Given the description of an element on the screen output the (x, y) to click on. 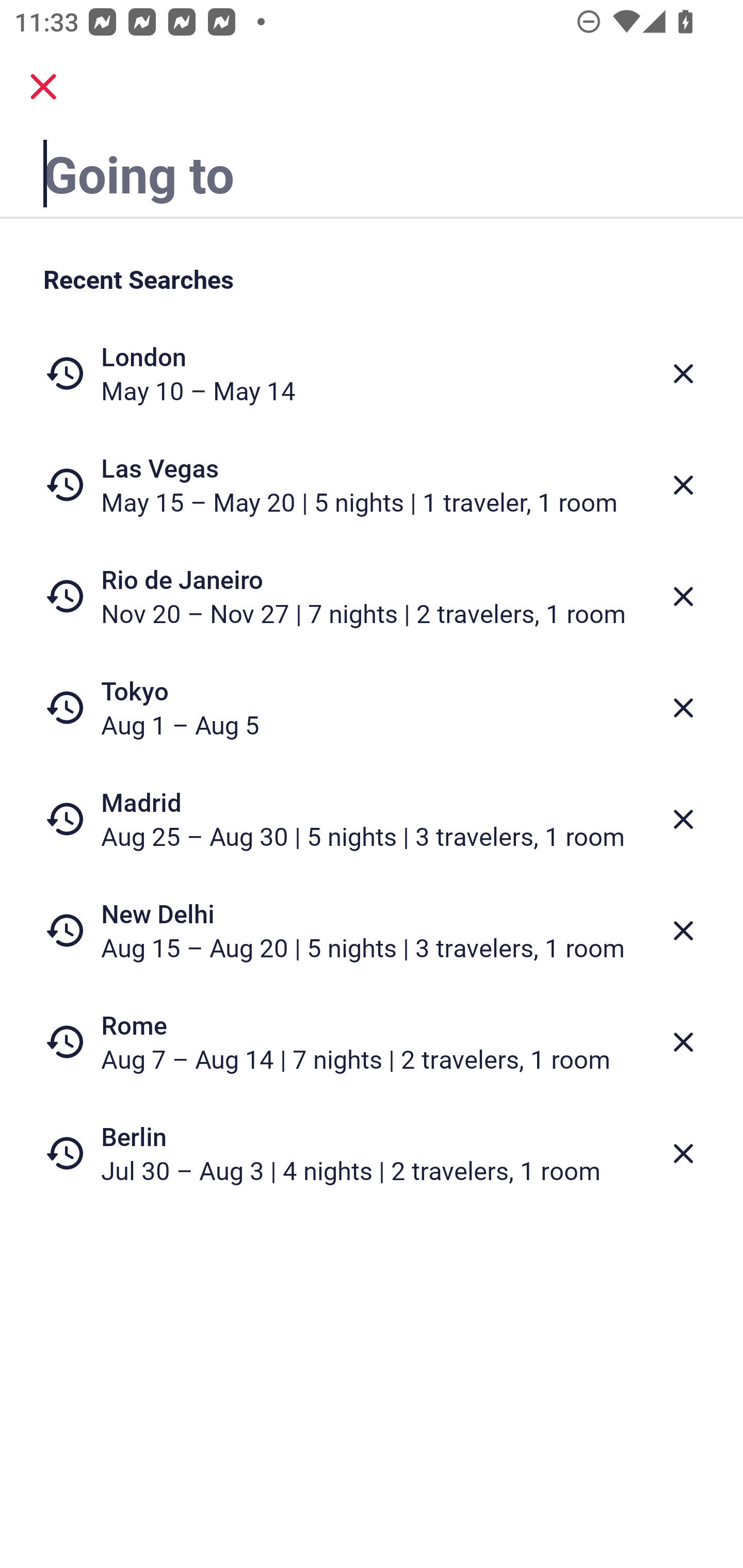
close. (43, 86)
London May 10 – May 14 (371, 373)
Delete from recent searches (683, 373)
Delete from recent searches (683, 485)
Delete from recent searches (683, 596)
Tokyo Aug 1 – Aug 5 (371, 707)
Delete from recent searches (683, 707)
Delete from recent searches (683, 819)
Delete from recent searches (683, 930)
Delete from recent searches (683, 1041)
Delete from recent searches (683, 1153)
